Given the description of an element on the screen output the (x, y) to click on. 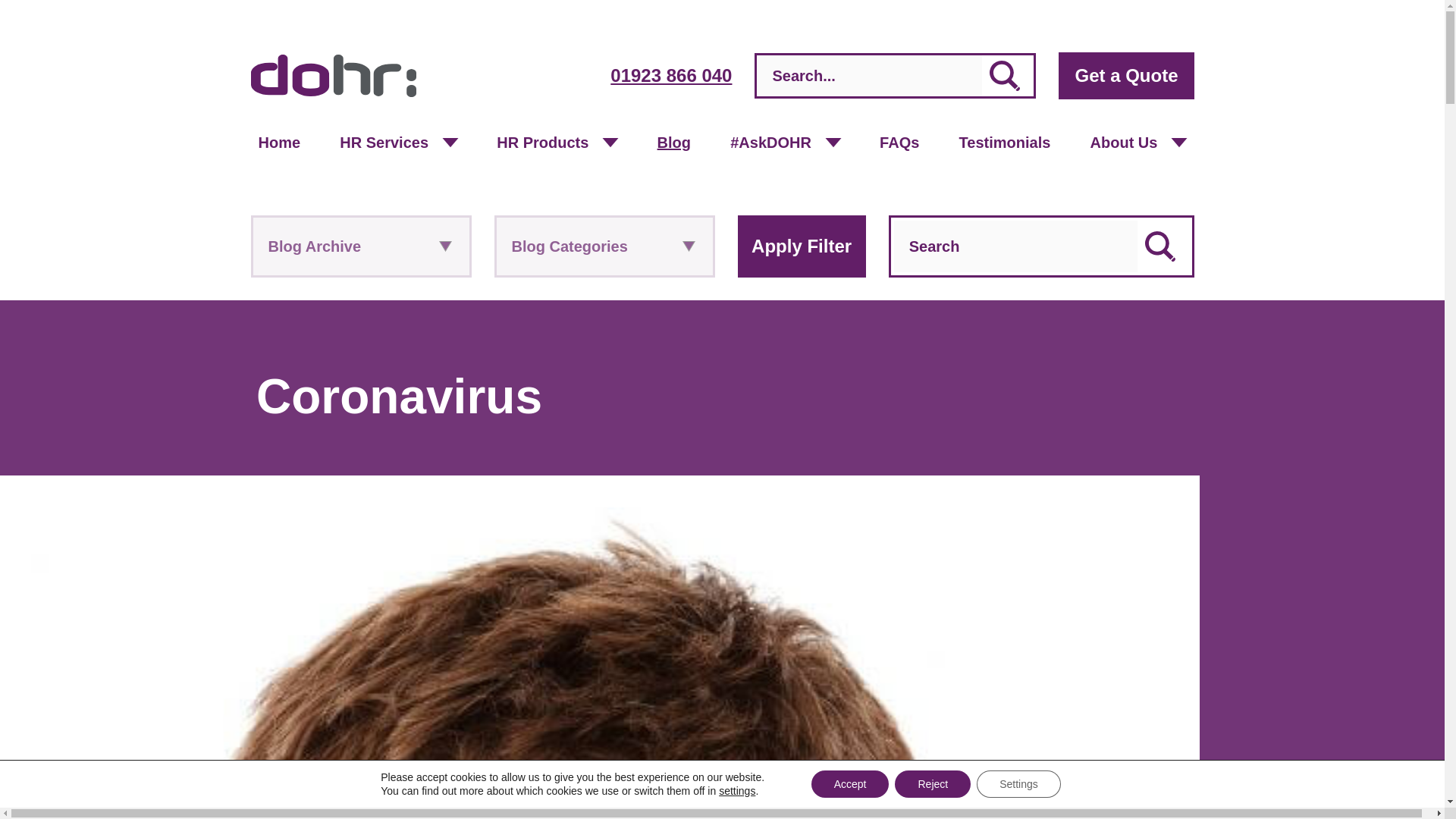
Home (278, 142)
Get a Quote (1125, 75)
Blog (673, 142)
HR Products (542, 142)
HR Services (383, 142)
01923 866 040 (671, 75)
